Given the description of an element on the screen output the (x, y) to click on. 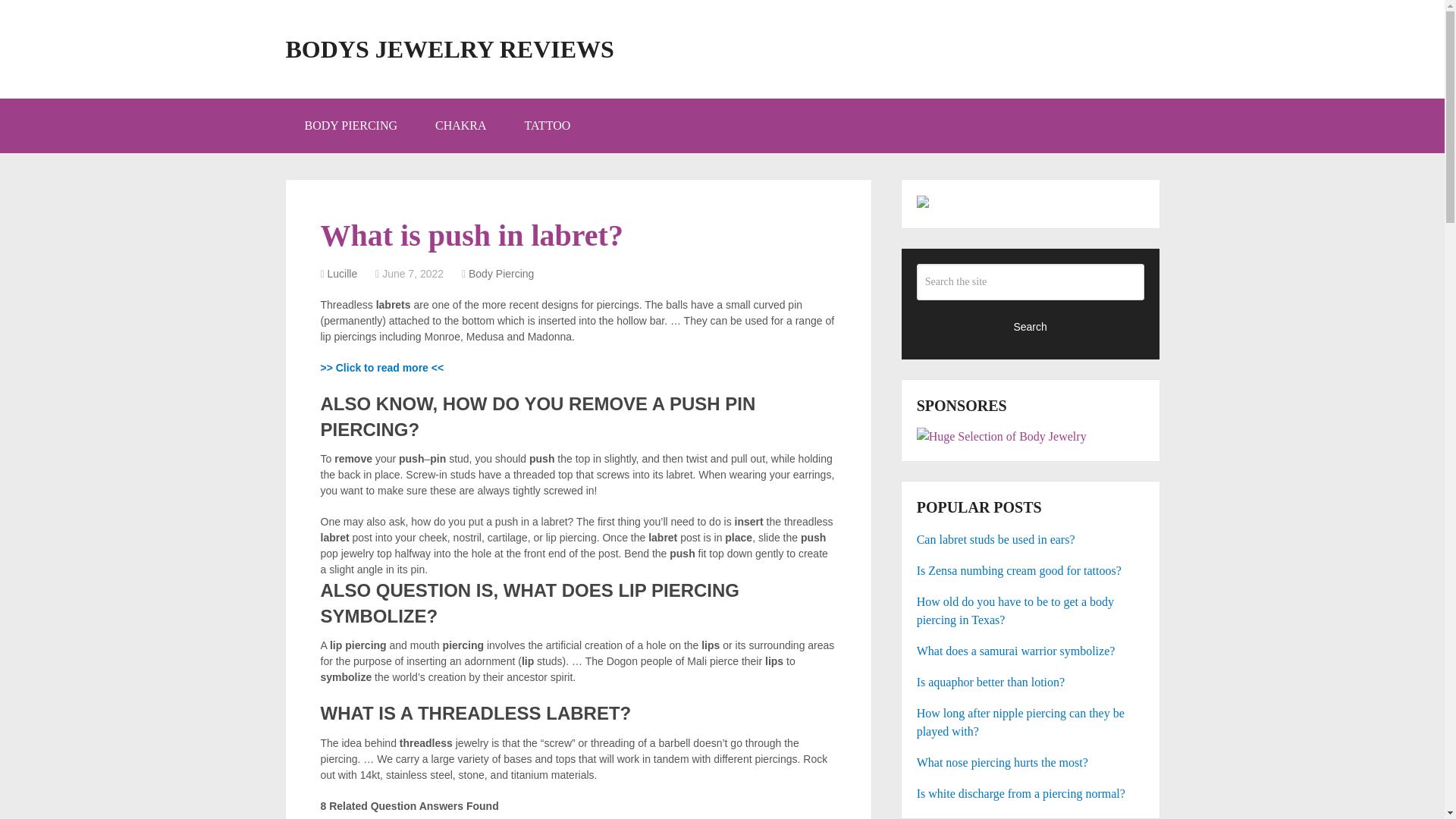
Can labret studs be used in ears? (1030, 539)
Body Piercing (501, 273)
CHAKRA (460, 125)
Is white discharge from a piercing normal? (1030, 793)
Posts by Lucille (342, 273)
Is aquaphor better than lotion? (1030, 682)
What nose piercing hurts the most? (1030, 762)
Is Zensa numbing cream good for tattoos? (1030, 570)
BODYS JEWELRY REVIEWS (448, 48)
BODY PIERCING (350, 125)
